Given the description of an element on the screen output the (x, y) to click on. 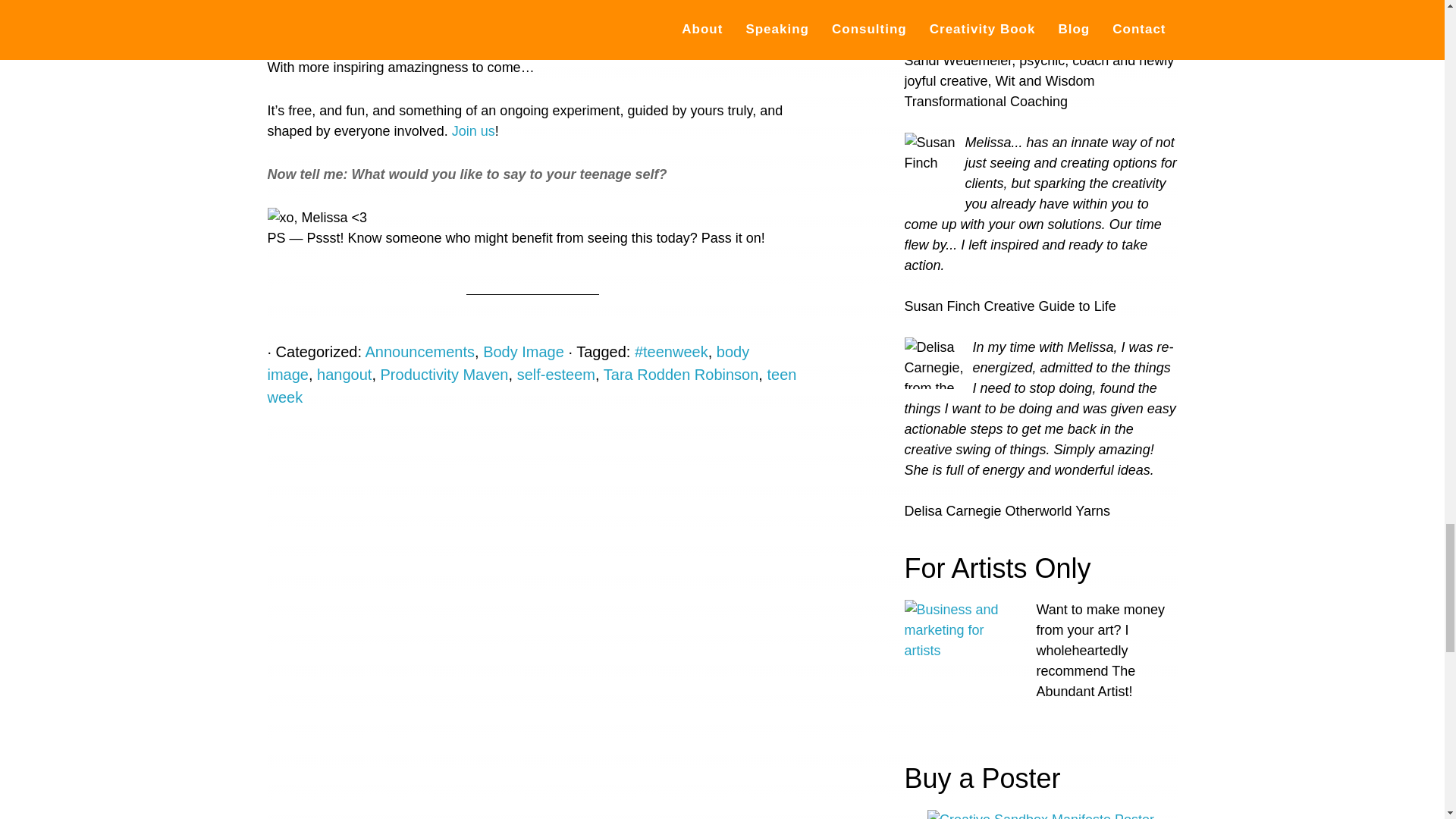
teen week (531, 385)
body image (507, 363)
Join us (473, 130)
ChocolateForBreakfast.com (399, 23)
Announcements (419, 351)
ConsciousBitesNutrition.com (602, 23)
self-esteem (555, 374)
Productivity Maven (444, 374)
Tara Rodden Robinson (681, 374)
Body Image (523, 351)
